Given the description of an element on the screen output the (x, y) to click on. 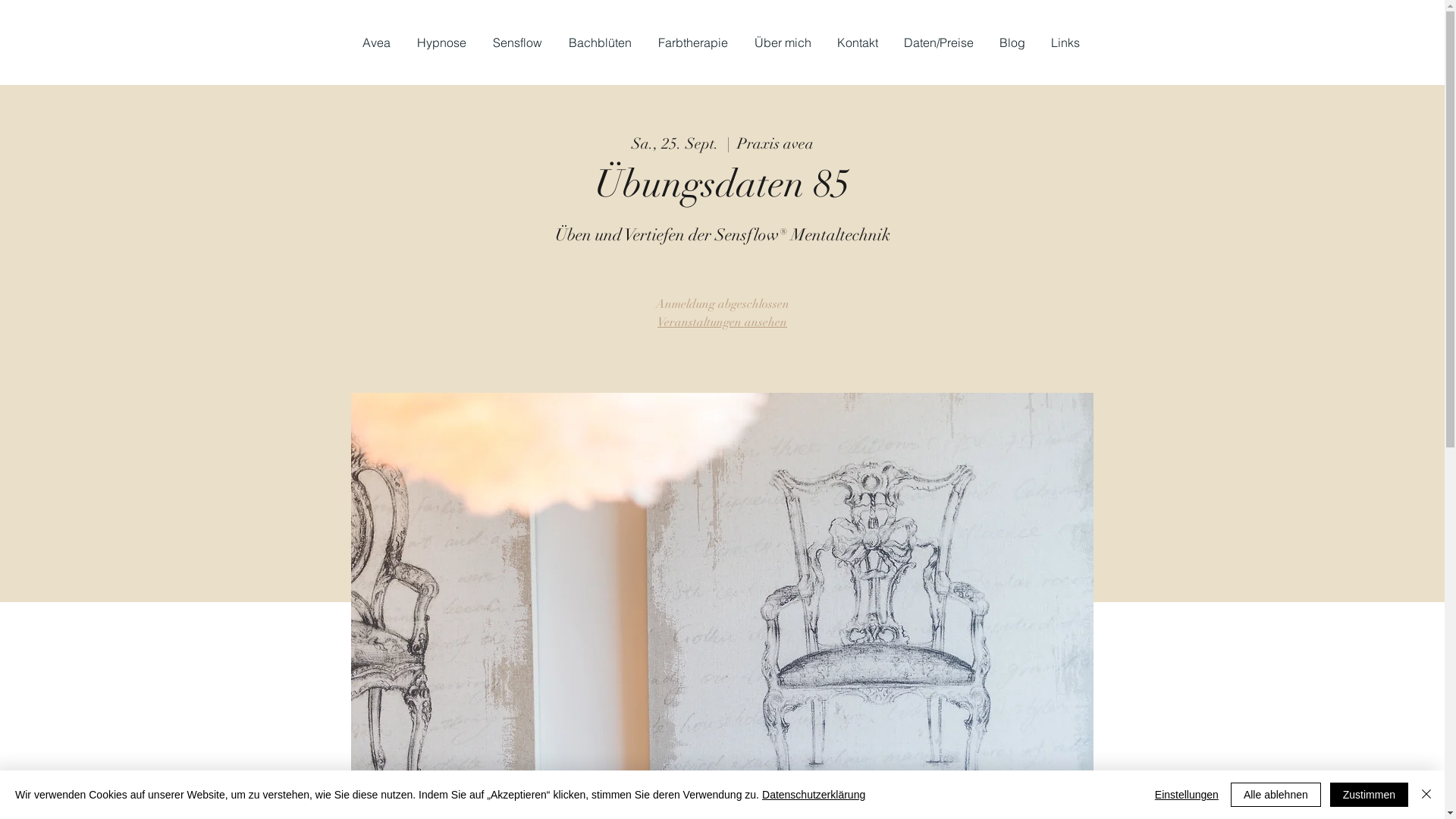
Farbtherapie Element type: text (694, 42)
Kontakt Element type: text (858, 42)
Alle ablehnen Element type: text (1275, 794)
Links Element type: text (1065, 42)
Veranstaltungen ansehen Element type: text (722, 321)
Zustimmen Element type: text (1369, 794)
Avea Element type: text (377, 42)
Blog Element type: text (1012, 42)
Hypnose Element type: text (442, 42)
Daten/Preise Element type: text (939, 42)
Sensflow Element type: text (518, 42)
